Given the description of an element on the screen output the (x, y) to click on. 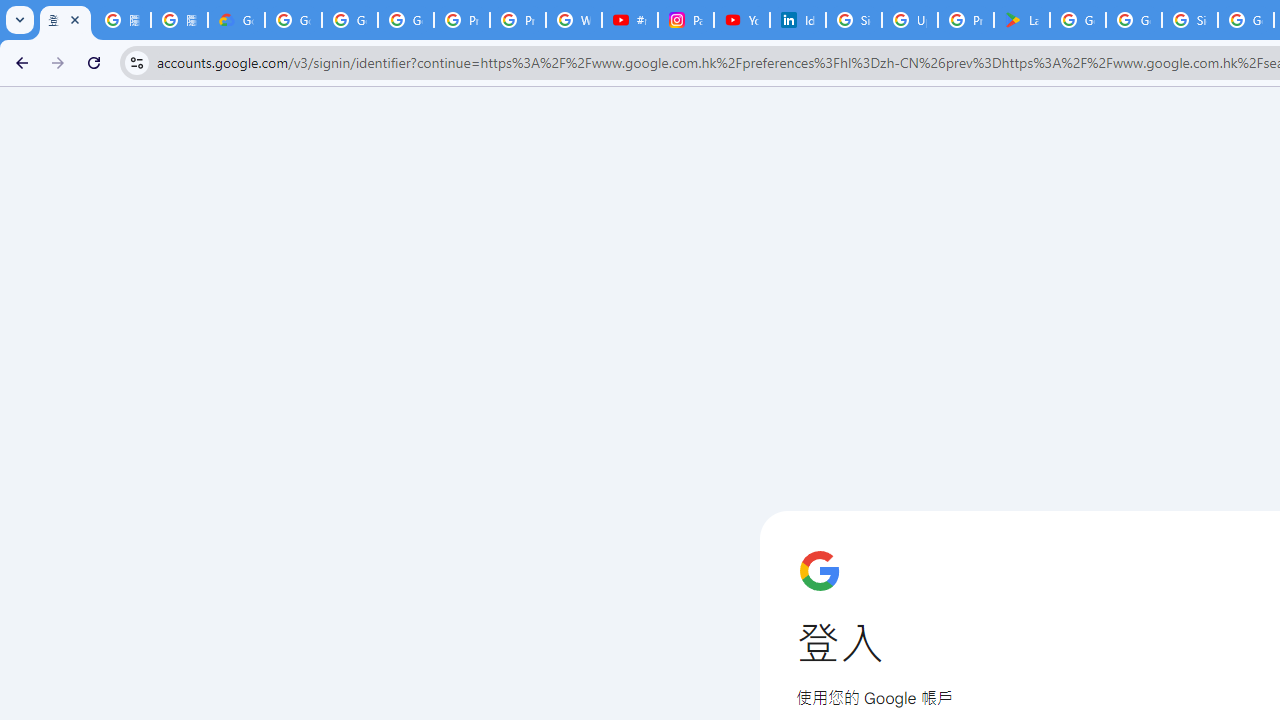
Google Workspace - Specific Terms (1133, 20)
Last Shelter: Survival - Apps on Google Play (1021, 20)
#nbabasketballhighlights - YouTube (629, 20)
Sign in - Google Accounts (853, 20)
Privacy Help Center - Policies Help (518, 20)
